Given the description of an element on the screen output the (x, y) to click on. 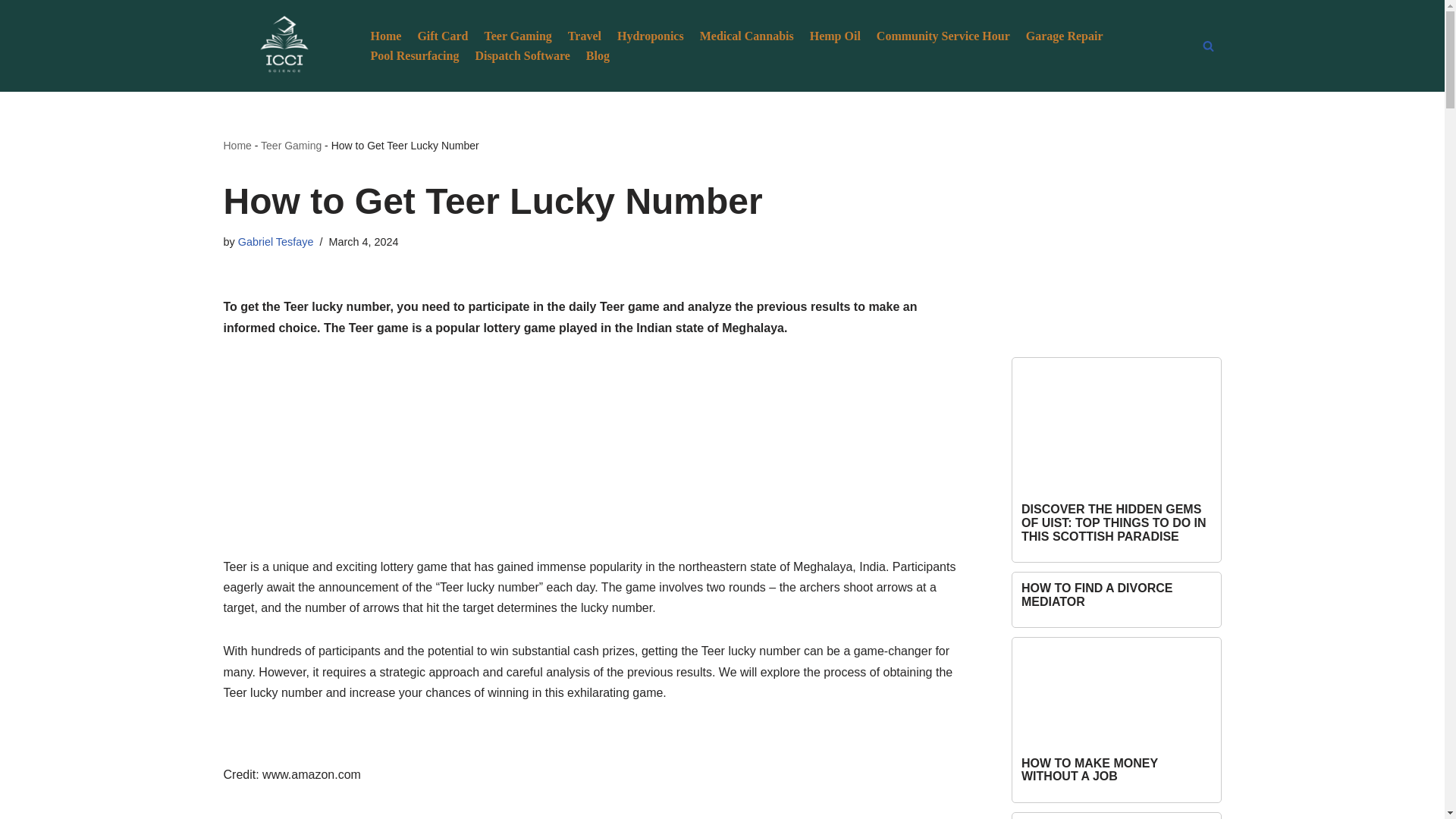
Community Service Hour (943, 35)
Dispatch Software (521, 55)
Blog (598, 55)
Hydroponics (650, 35)
Home (385, 35)
Travel (584, 35)
Garage Repair (1064, 35)
Posts by Gabriel Tesfaye (276, 241)
Medical Cannabis (746, 35)
Gift Card (441, 35)
Home (236, 145)
Pool Resurfacing (413, 55)
Hemp Oil (834, 35)
Teer Gaming (517, 35)
Teer Gaming (290, 145)
